Given the description of an element on the screen output the (x, y) to click on. 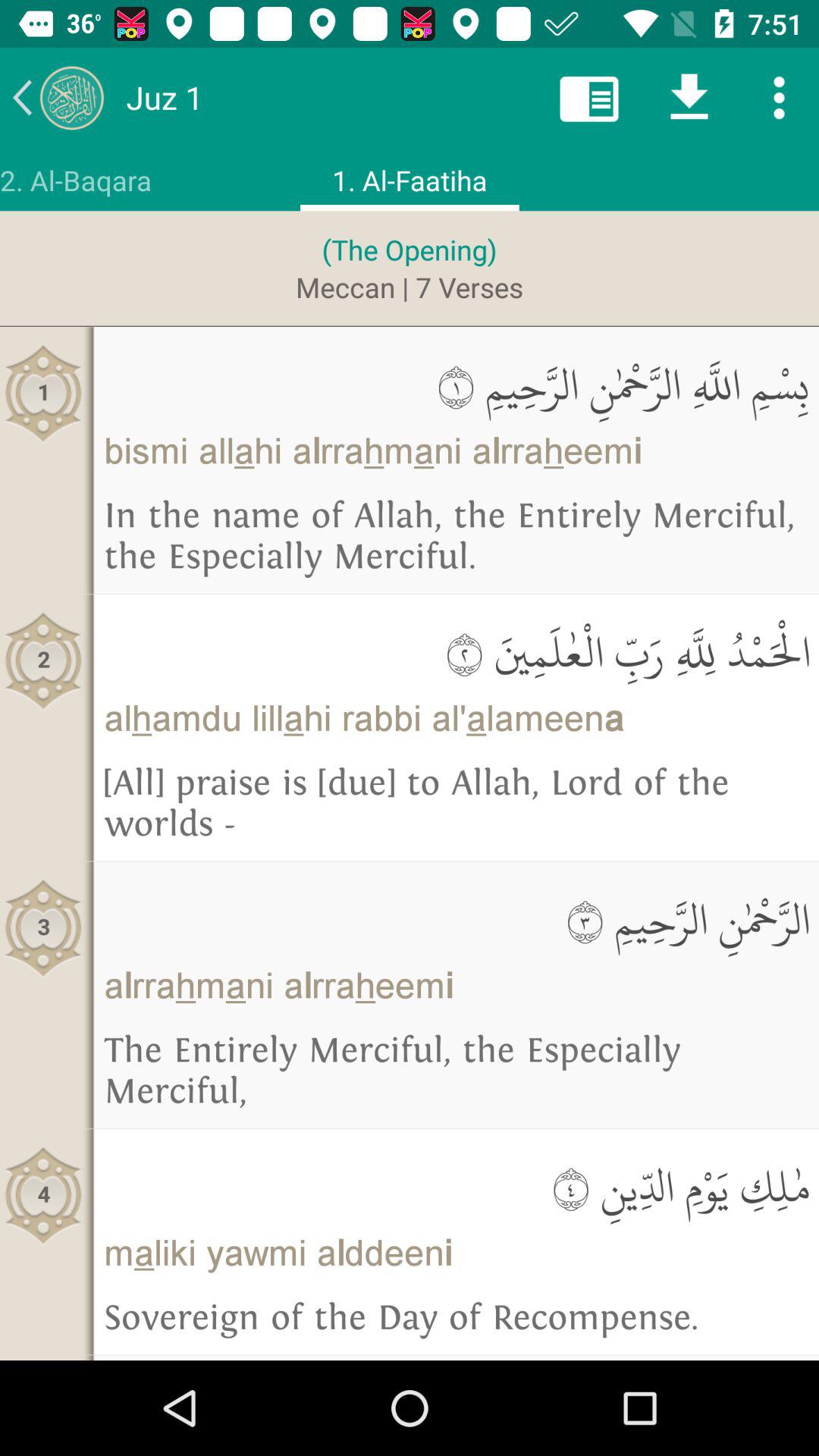
flip to 3 icon (43, 928)
